Given the description of an element on the screen output the (x, y) to click on. 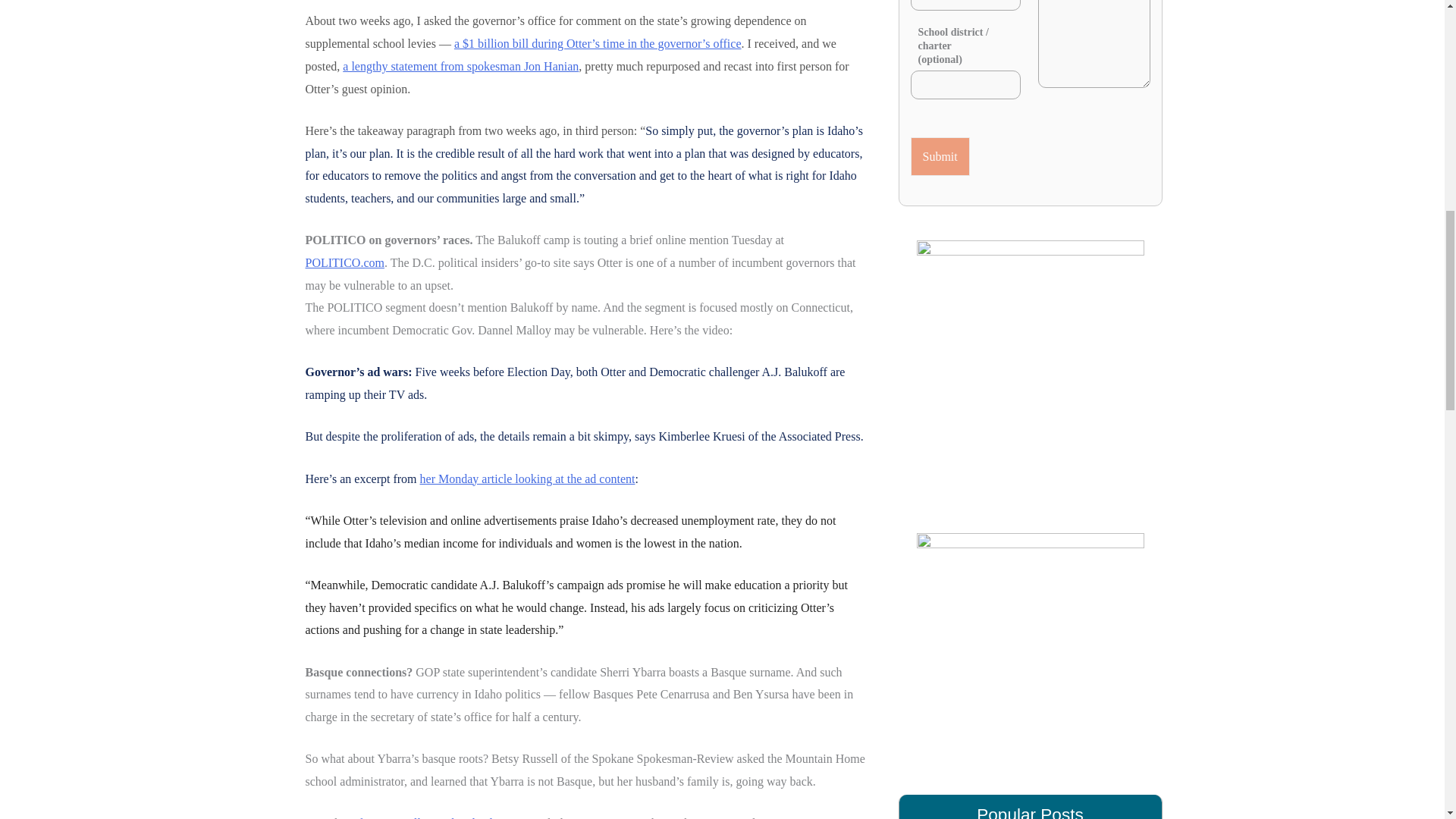
her Monday article looking at the ad content (527, 478)
Submit (939, 156)
POLITICO.com (344, 262)
a lengthy statement from spokesman Jon Hanian (460, 65)
